Given the description of an element on the screen output the (x, y) to click on. 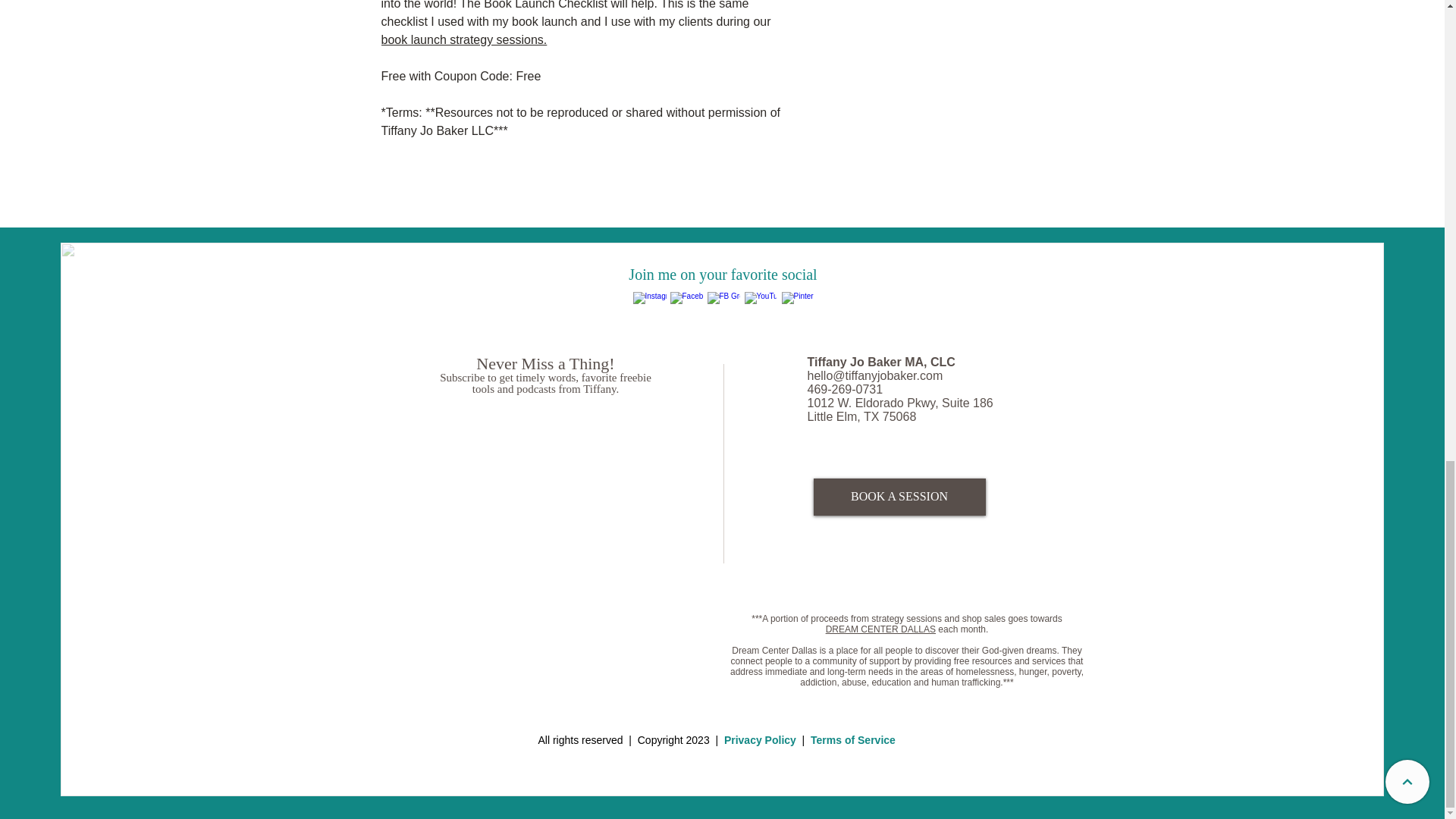
book launch strategy sessions. (463, 39)
BOOK A SESSION (898, 496)
Privacy Policy (759, 739)
DREAM CENTER DALLAS (880, 629)
Terms of Service (852, 739)
